Given the description of an element on the screen output the (x, y) to click on. 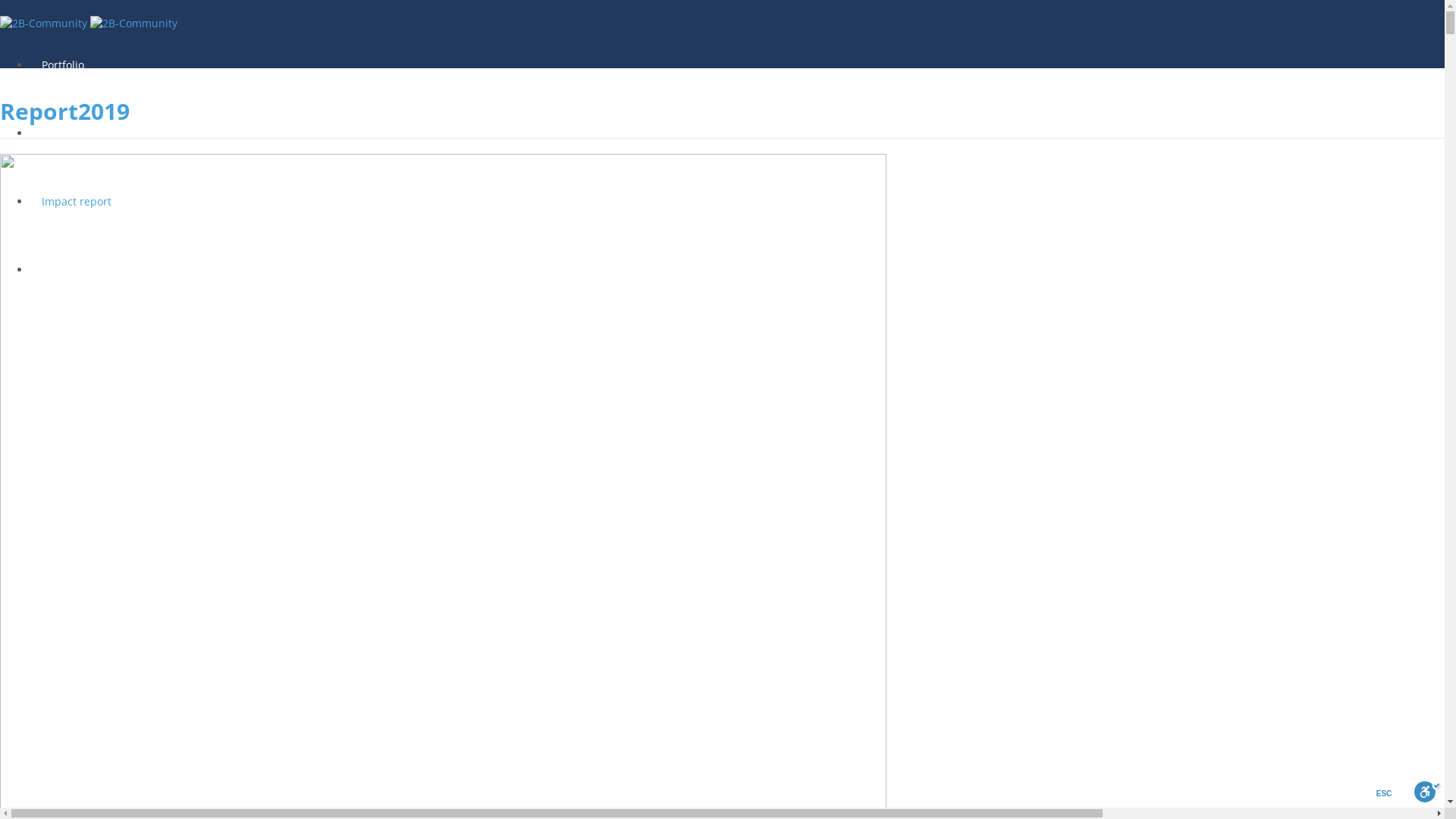
.afill:#FFF;
ESC Element type: text (1427, 794)
News & Views Element type: text (76, 132)
Contact Element type: text (60, 269)
Impact report Element type: text (76, 201)
Portfolio Element type: text (62, 64)
